Given the description of an element on the screen output the (x, y) to click on. 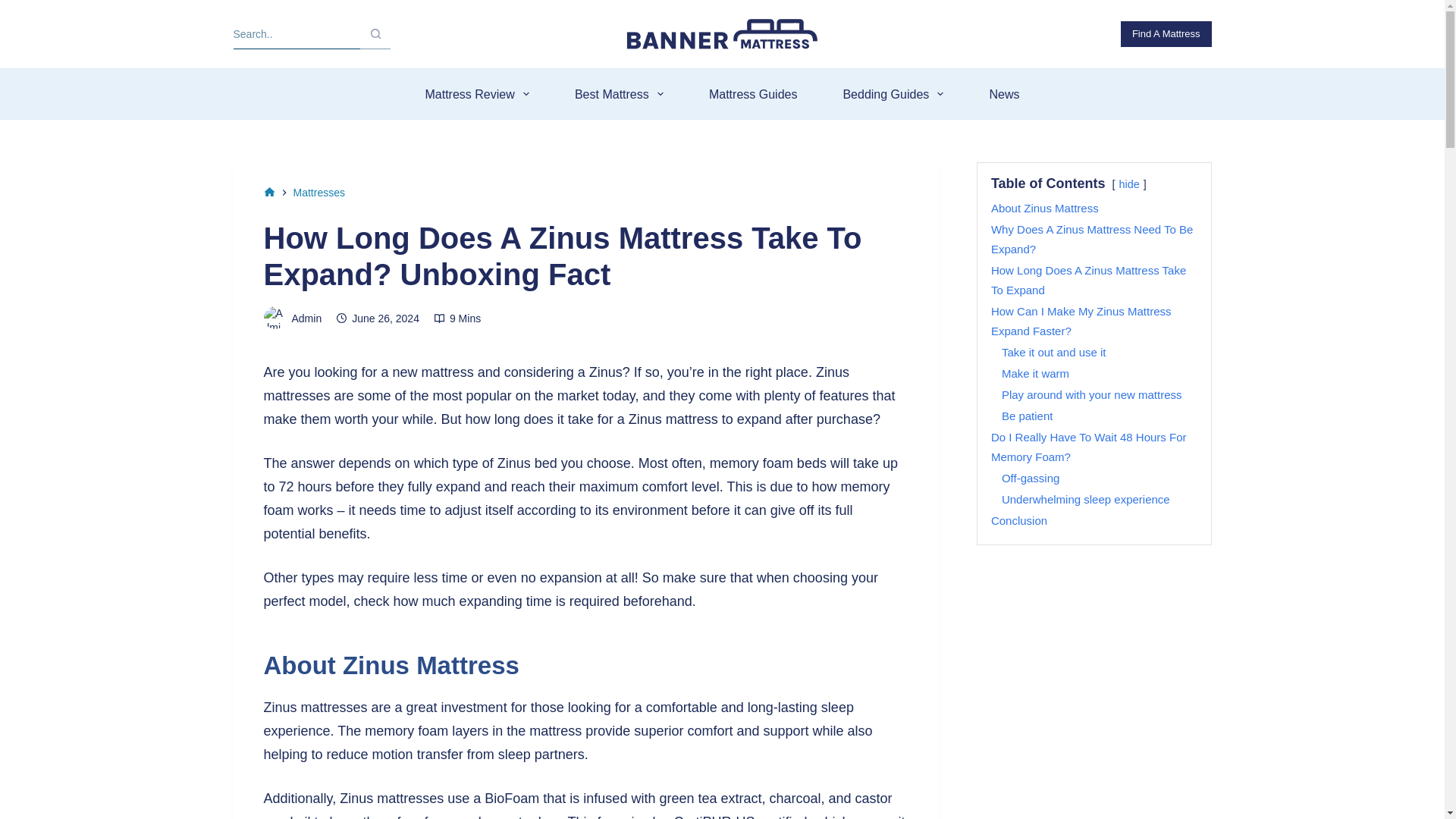
Search for... (296, 33)
Posts by Admin (306, 318)
Skip to content (15, 7)
How Long Does A Zinus Mattress Take To Expand? Unboxing Fact (585, 256)
